Given the description of an element on the screen output the (x, y) to click on. 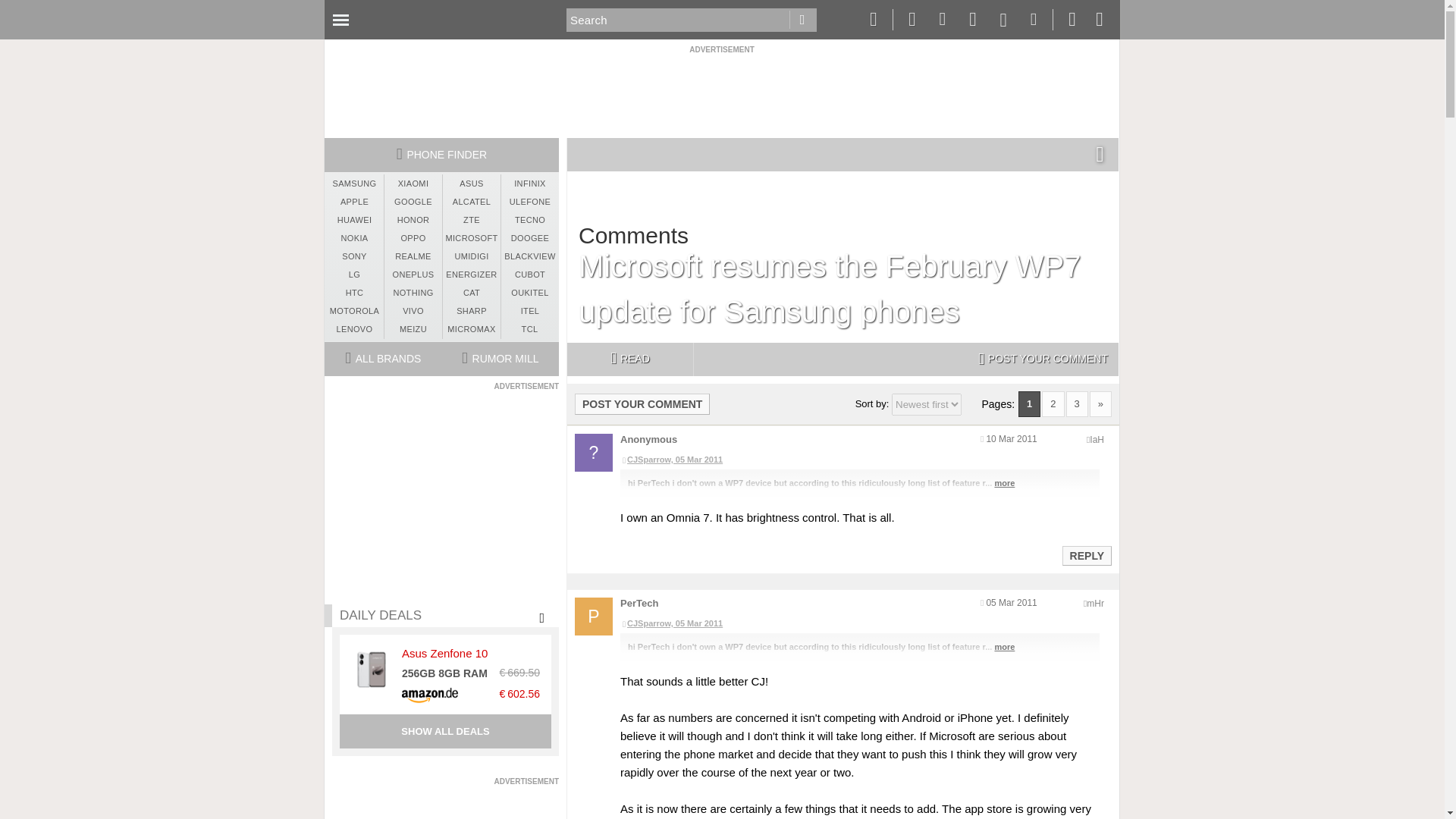
more (1004, 646)
more (1004, 482)
Encoded anonymized location (1096, 439)
Encoded anonymized location (1094, 603)
Go (802, 19)
POST YOUR COMMENT (642, 403)
Go (802, 19)
POST YOUR COMMENT (1042, 359)
Reply to this post (1086, 555)
Sort comments by (925, 404)
